Given the description of an element on the screen output the (x, y) to click on. 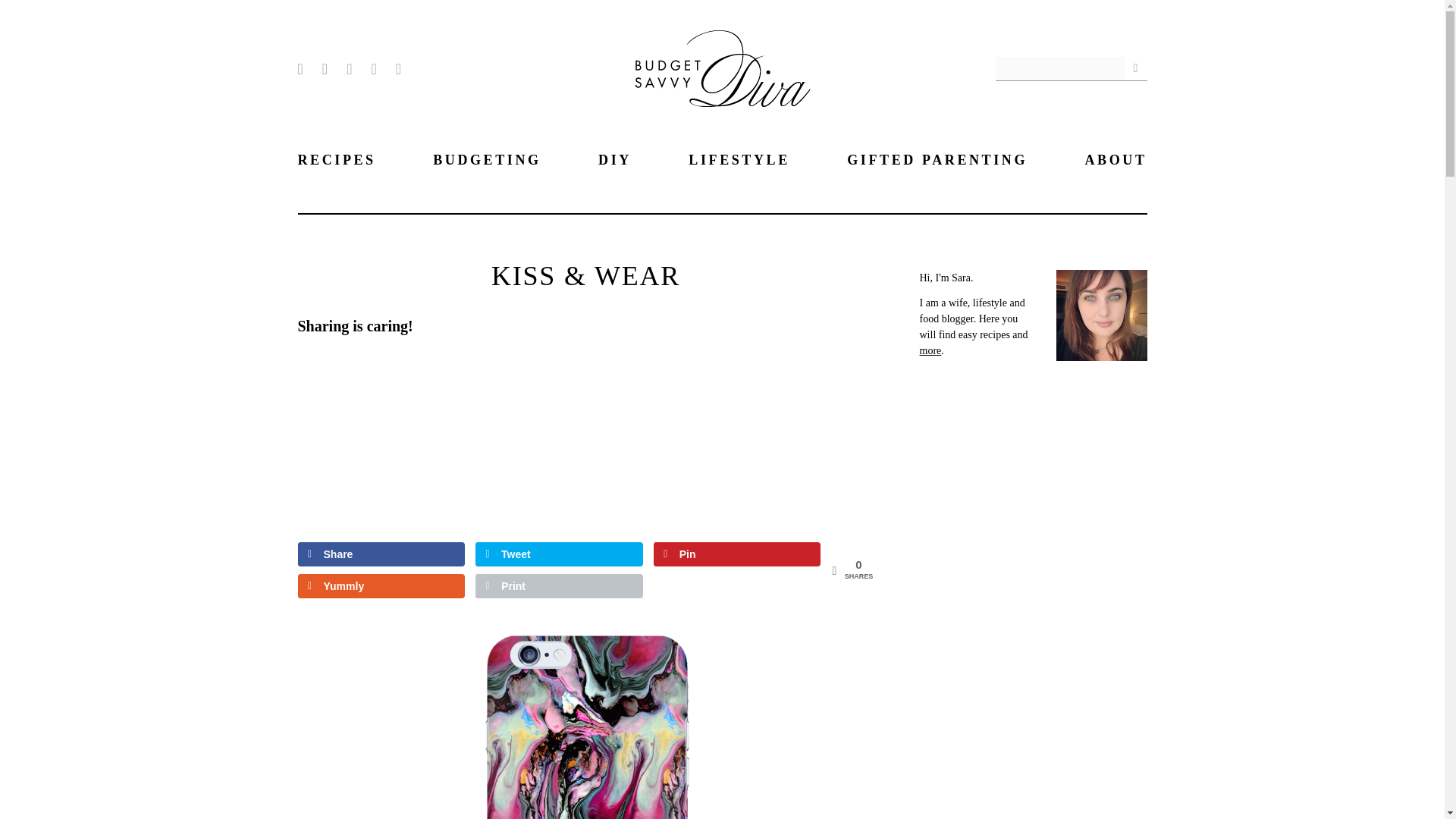
GIFTED PARENTING (937, 159)
RECIPES (336, 159)
Search (1135, 67)
BUDGETING (486, 159)
ABOUT (1115, 159)
LIFESTYLE (738, 159)
